Given the description of an element on the screen output the (x, y) to click on. 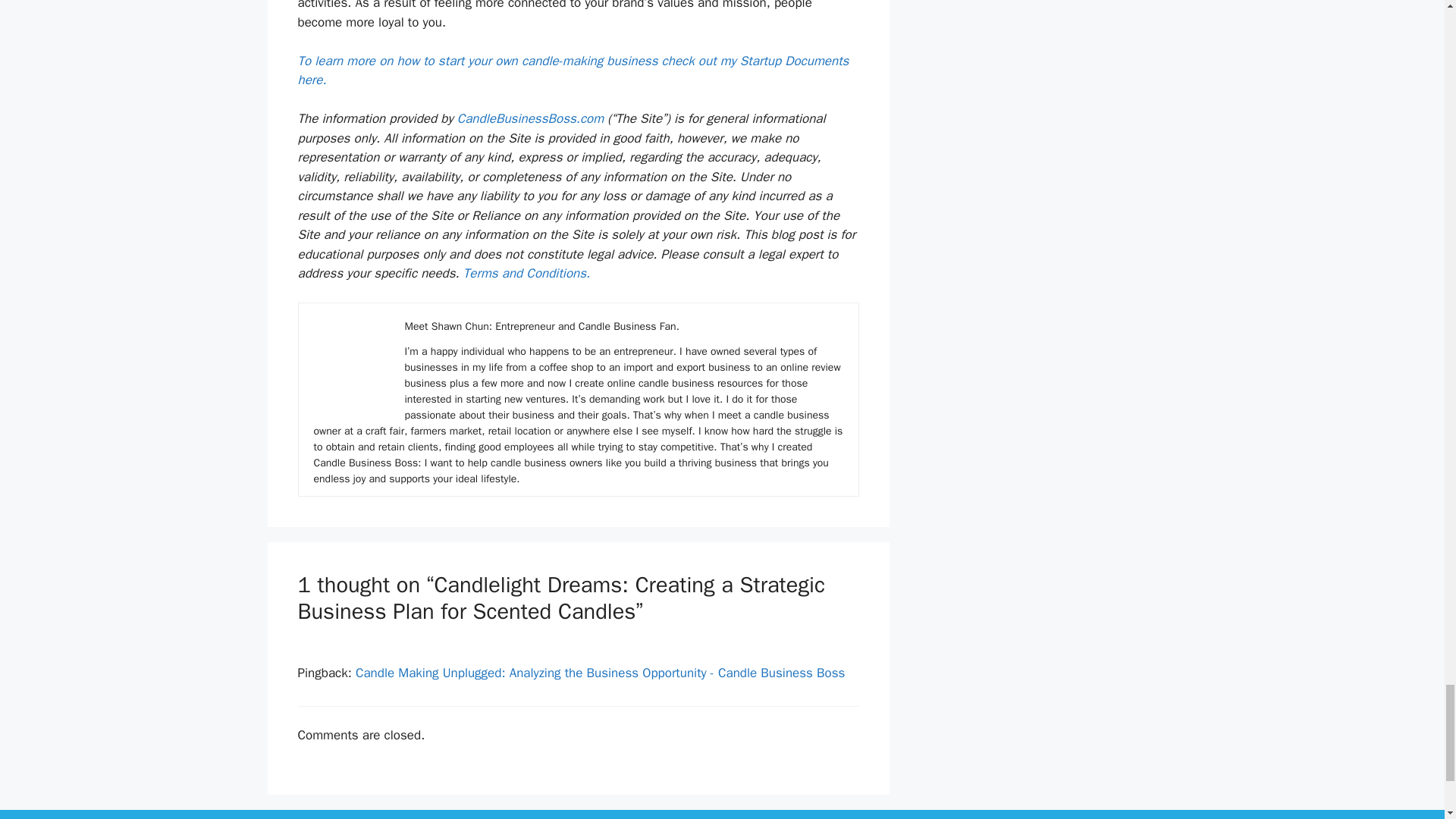
Terms and Conditions. (526, 273)
CandleBusinessBoss.com (530, 118)
